Given the description of an element on the screen output the (x, y) to click on. 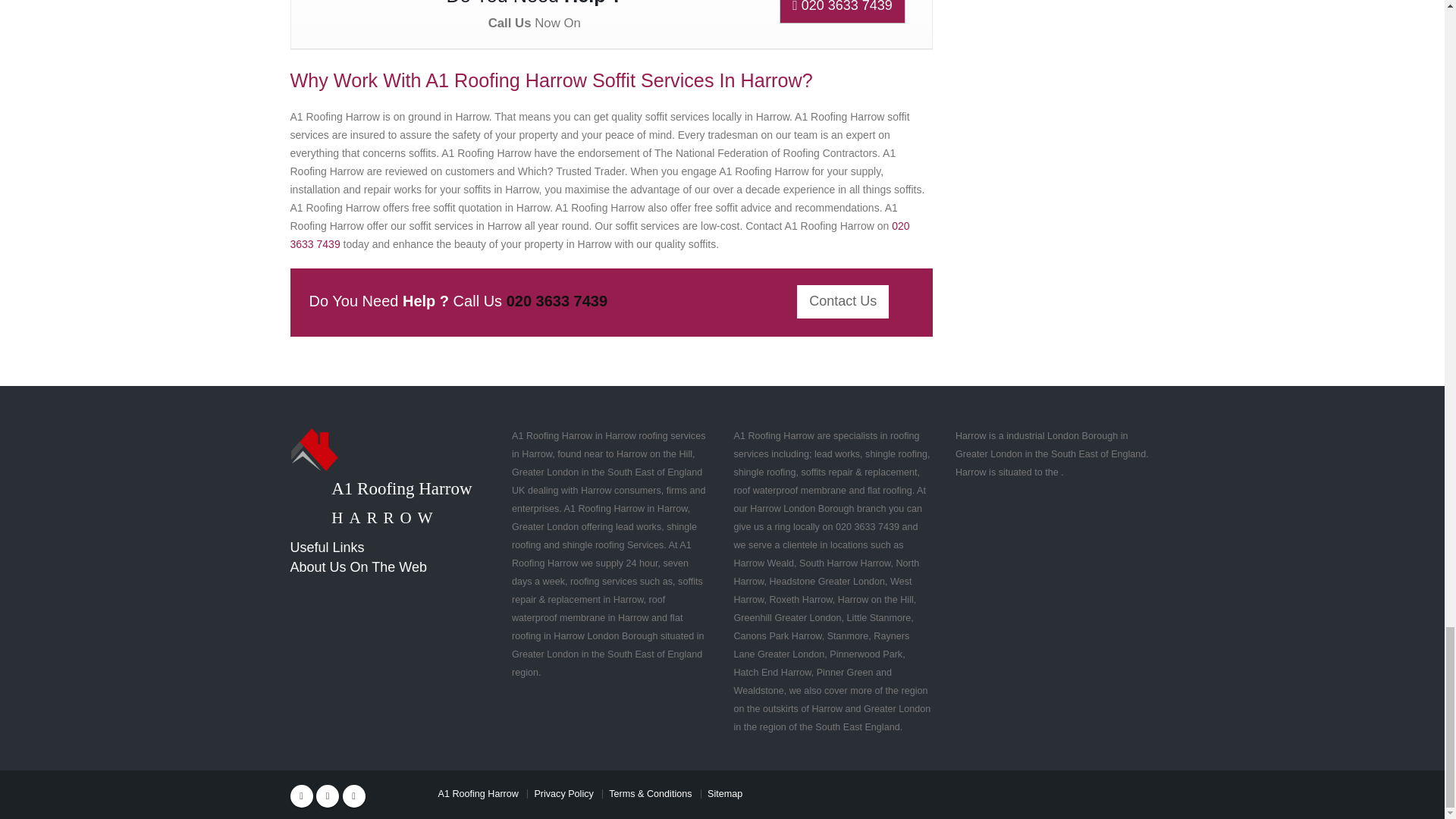
Linkedin (353, 795)
Twitter (327, 795)
Facebook (301, 795)
